Given the description of an element on the screen output the (x, y) to click on. 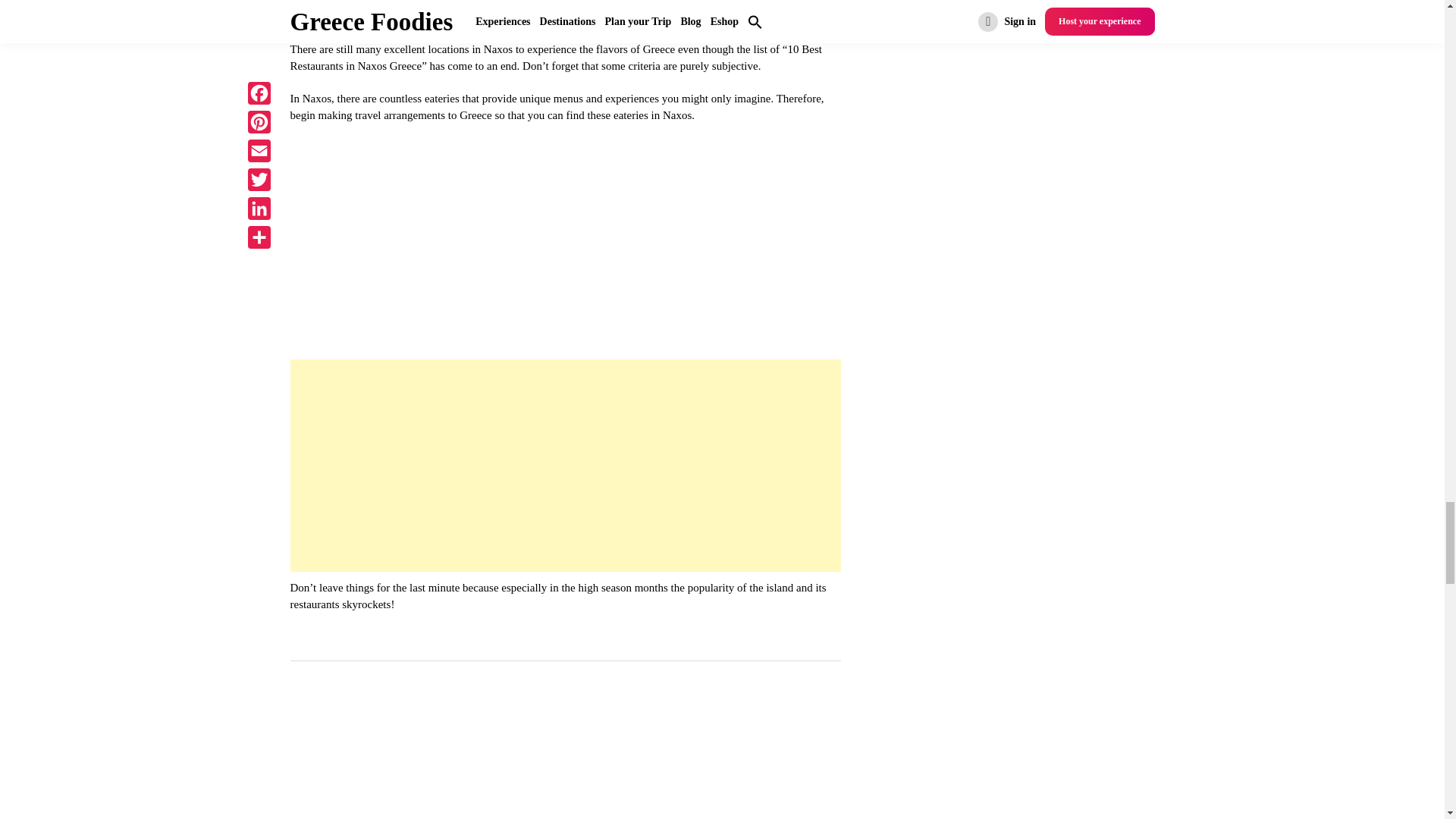
GetYourGuide Widget (565, 735)
